Given the description of an element on the screen output the (x, y) to click on. 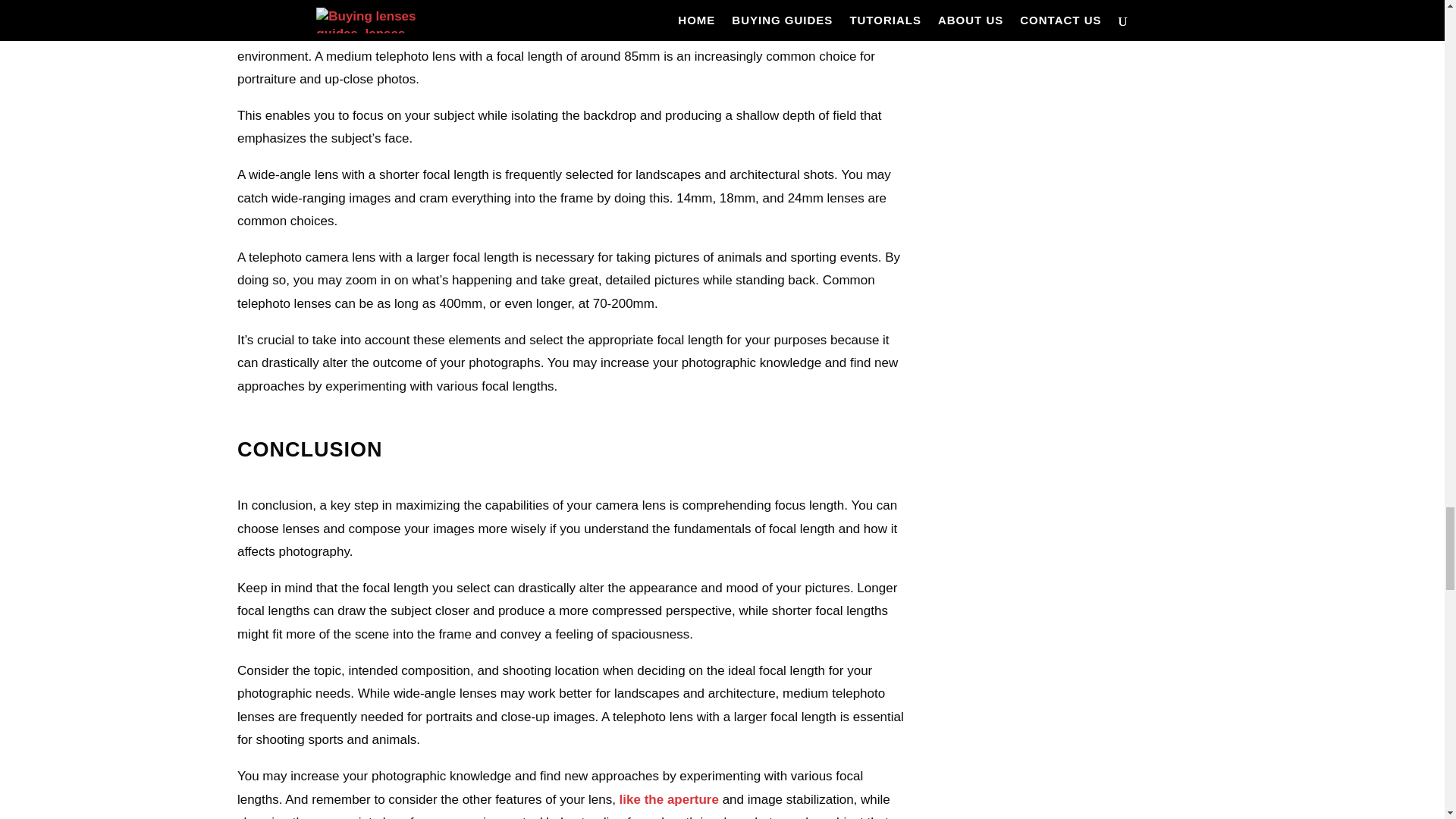
like the aperture (669, 799)
